Given the description of an element on the screen output the (x, y) to click on. 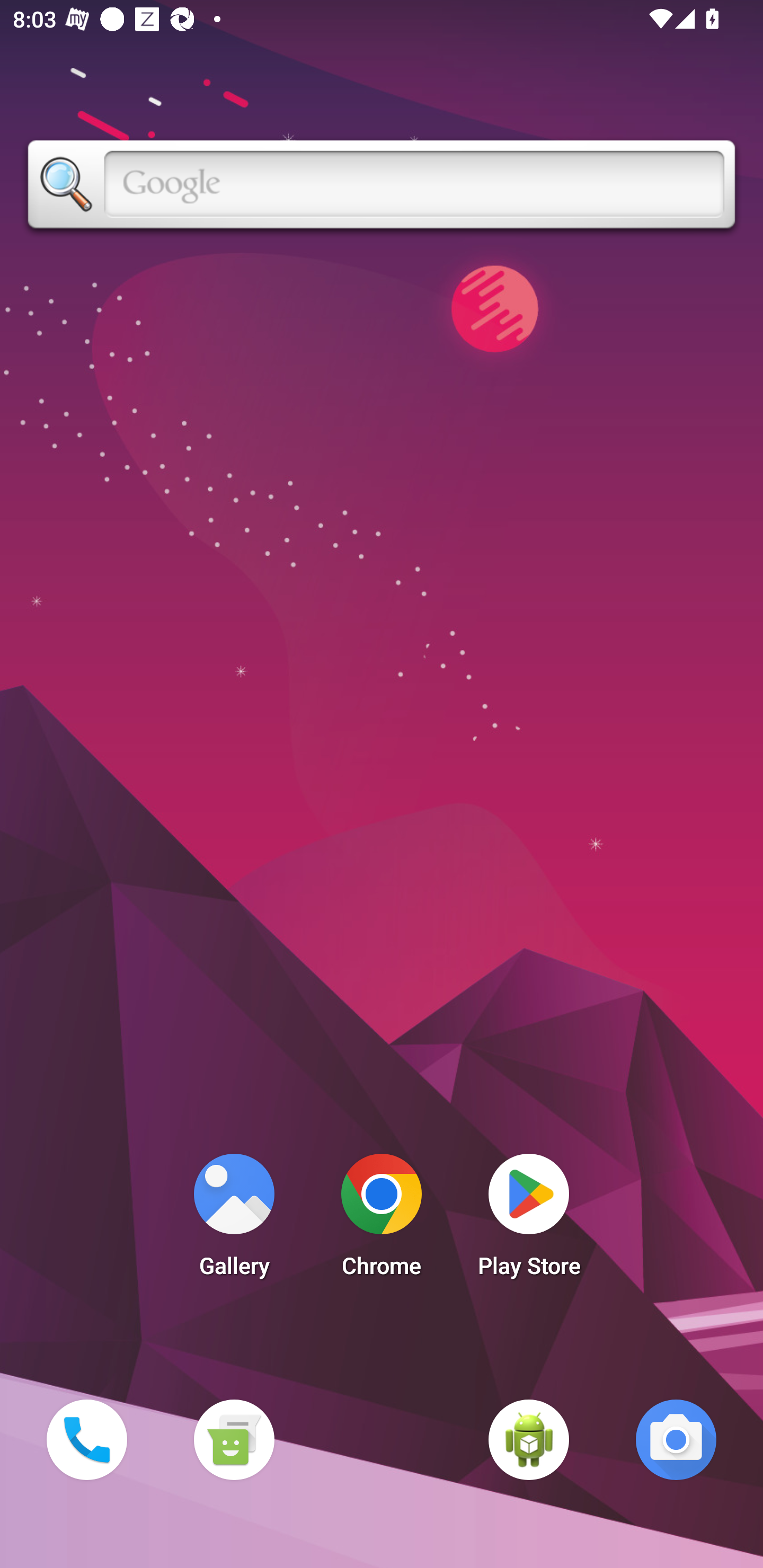
Gallery (233, 1220)
Chrome (381, 1220)
Play Store (528, 1220)
Phone (86, 1439)
Messaging (233, 1439)
WebView Browser Tester (528, 1439)
Camera (676, 1439)
